Given the description of an element on the screen output the (x, y) to click on. 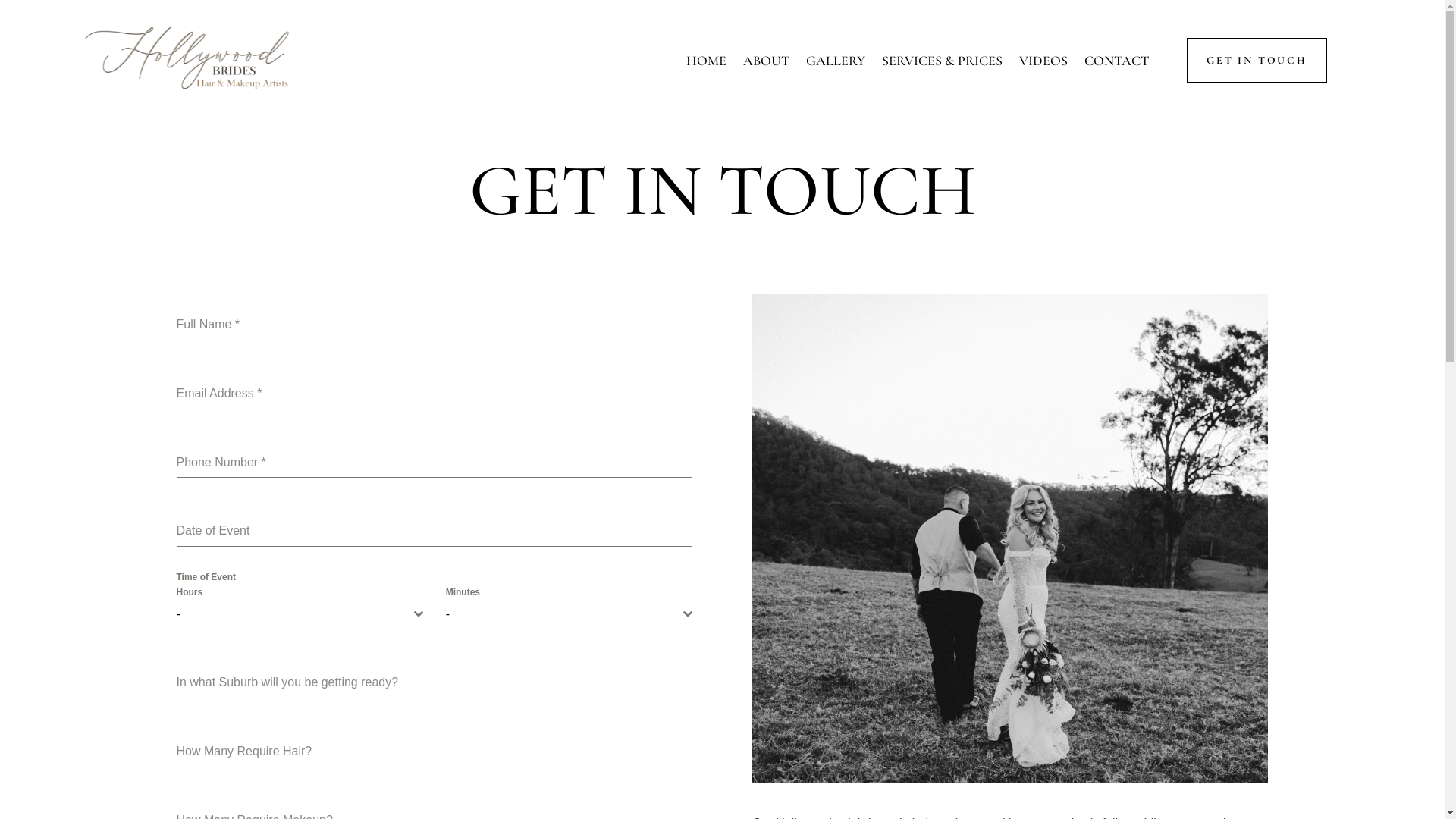
HOME Element type: text (706, 60)
CONTACT Element type: text (1116, 60)
VIDEOS Element type: text (1043, 60)
ABOUT Element type: text (766, 60)
SERVICES & PRICES Element type: text (941, 60)
GALLERY Element type: text (835, 60)
GET IN TOUCH Element type: text (1256, 60)
Photo 26-5-2023, 16 28 08 Element type: hover (1009, 538)
